Given the description of an element on the screen output the (x, y) to click on. 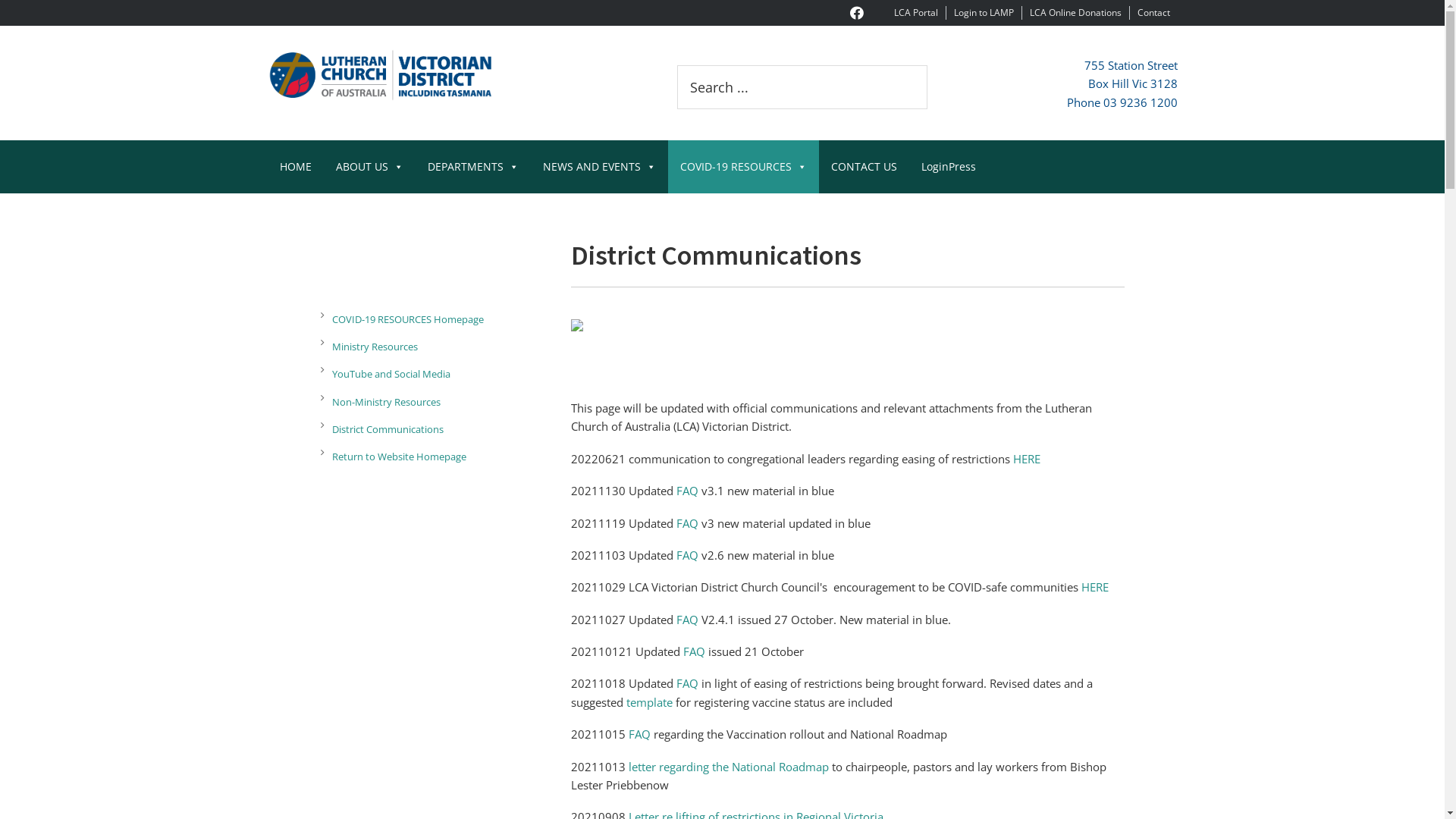
FAQ Element type: text (687, 554)
Login to LAMP Element type: text (983, 12)
Contact Element type: text (1153, 12)
COVID-19 RESOURCES Element type: text (742, 166)
FAQ Element type: text (687, 619)
FAQ Element type: text (687, 490)
District Communications Element type: text (435, 429)
ABOUT US Element type: text (368, 166)
FAQ Element type: text (687, 522)
LCA Online Donations Element type: text (1075, 12)
FAQ Element type: text (638, 733)
DEPARTMENTS Element type: text (472, 166)
letter regarding the National Roadmap Element type: text (727, 766)
CONTACT US Element type: text (864, 166)
Skip to primary navigation Element type: text (0, 0)
template Element type: text (649, 701)
LCA Portal Element type: text (915, 12)
FAQ Element type: text (693, 650)
Non-Ministry Resources Element type: text (435, 401)
LoginPress Element type: text (947, 166)
FAQ Element type: text (687, 682)
HOME Element type: text (294, 166)
HERE Element type: text (1026, 458)
COVID-19 RESOURCES Homepage Element type: text (435, 319)
YouTube and Social Media Element type: text (435, 373)
HERE Element type: text (1094, 586)
Search Element type: text (926, 64)
NEWS AND EVENTS Element type: text (599, 166)
Return to Website Homepage Element type: text (435, 456)
Ministry Resources Element type: text (435, 346)
